Given the description of an element on the screen output the (x, y) to click on. 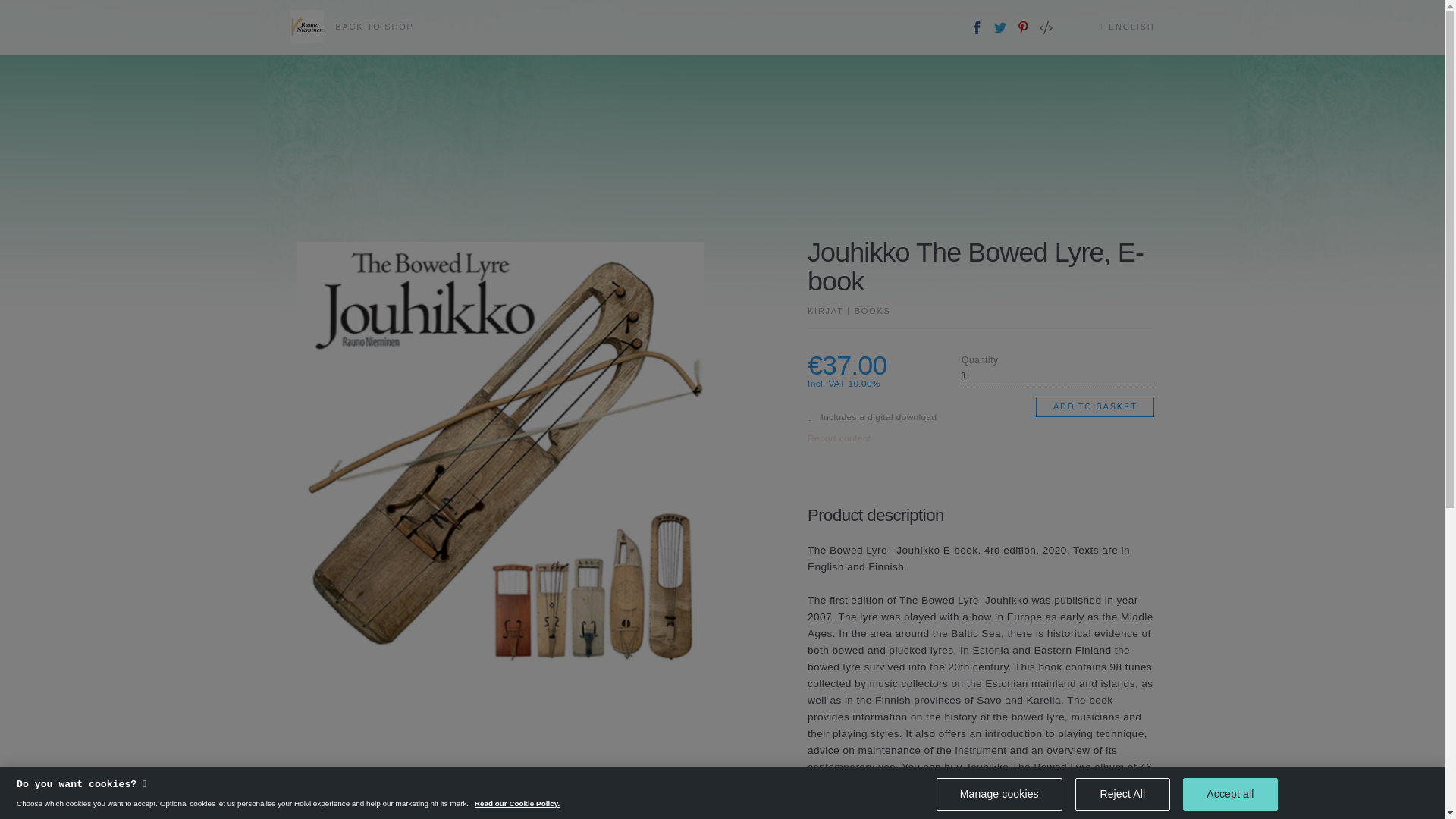
Reject All (1122, 795)
Read our Cookie Policy. (516, 807)
Manage cookies (999, 797)
Add to basket (1094, 406)
BACK TO SHOP (351, 27)
Pin it (1022, 27)
Embed (1045, 27)
Add to basket (1094, 406)
Share on Facebook (977, 27)
Tweet (1000, 27)
